Given the description of an element on the screen output the (x, y) to click on. 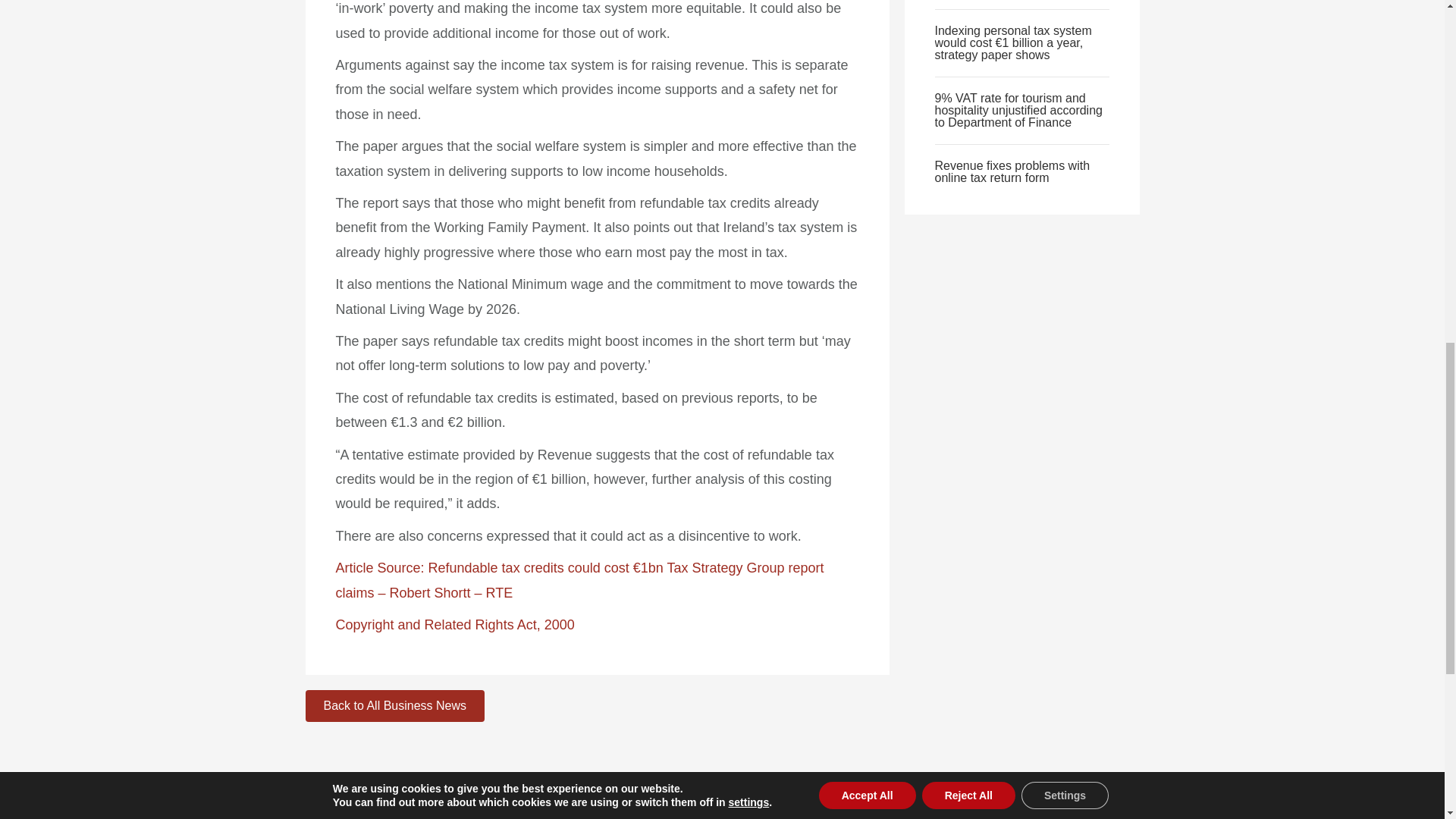
Revenue fixes problems with online tax return form (1011, 171)
Copyright and Related Rights Act, 2000 (453, 624)
Revenue fixes problems with online tax return form (1011, 171)
Back to All Business News (394, 705)
